Given the description of an element on the screen output the (x, y) to click on. 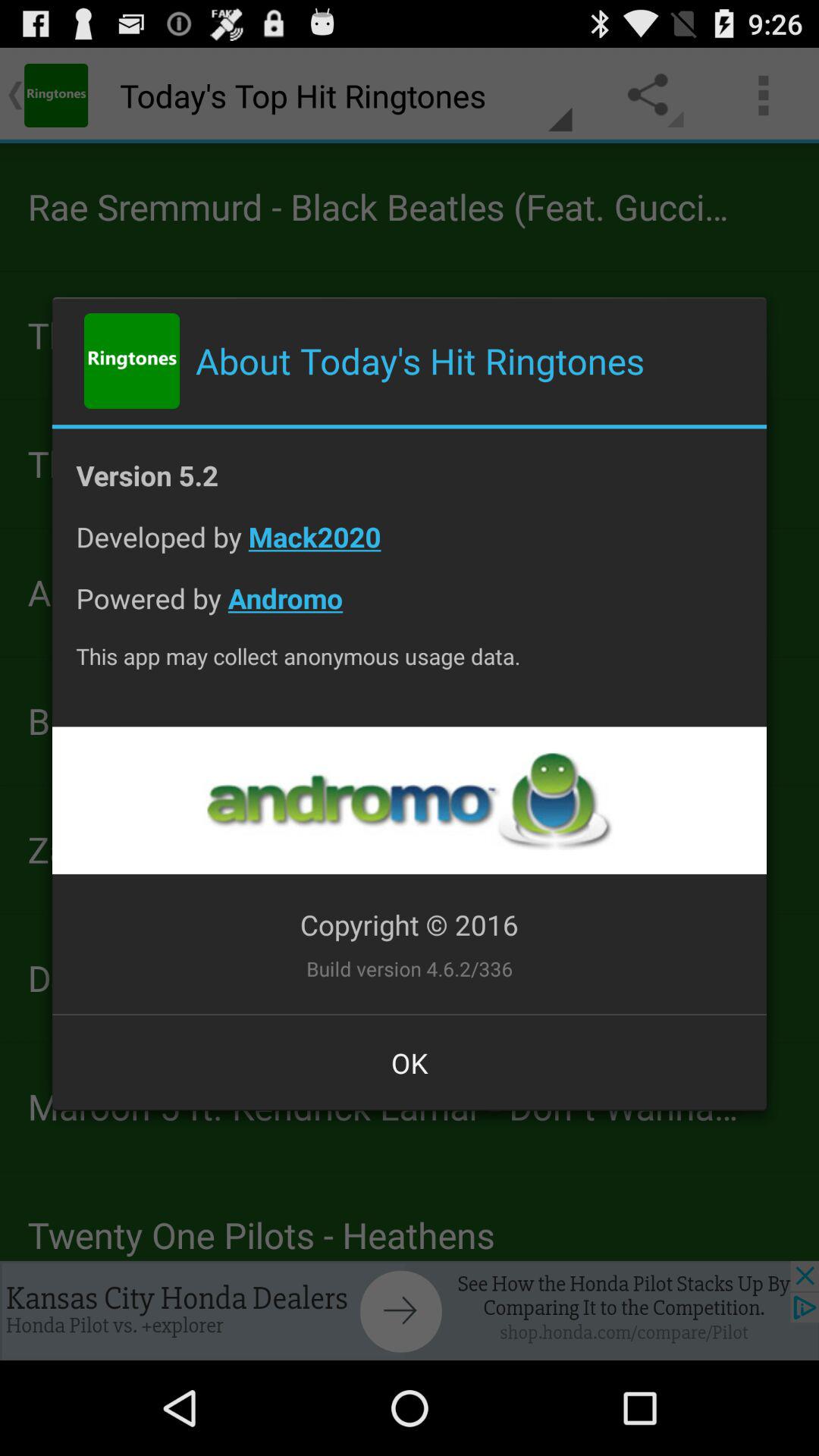
open app below this app may item (408, 800)
